Given the description of an element on the screen output the (x, y) to click on. 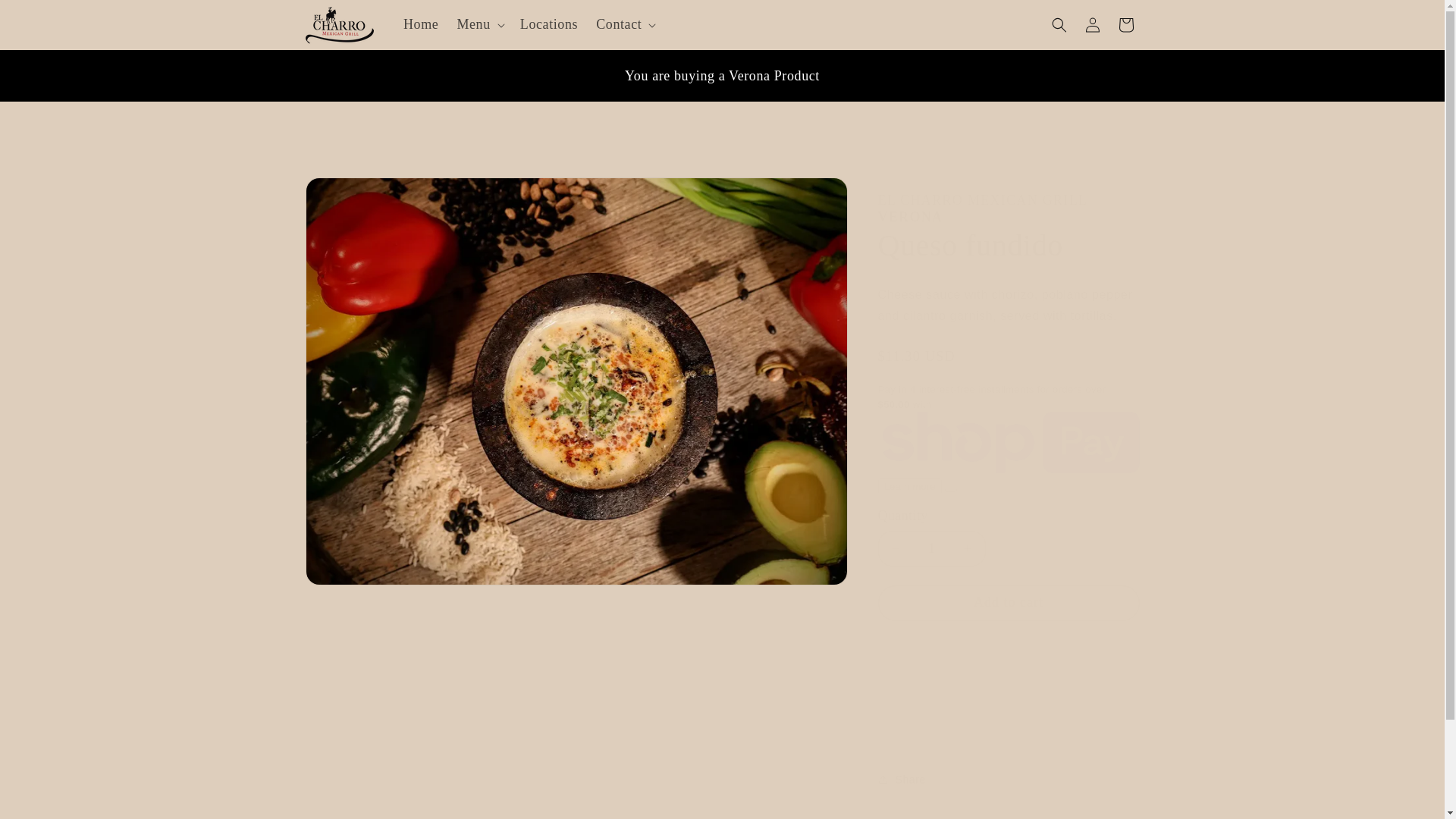
Cart (1124, 24)
Skip to product information (350, 194)
Home (420, 24)
Add to cart (1008, 602)
Locations (548, 24)
Decrease quantity for Queso fundido (894, 548)
Skip to content (45, 17)
1 (931, 548)
Log in (1091, 24)
Increase quantity for Queso fundido (967, 548)
